Given the description of an element on the screen output the (x, y) to click on. 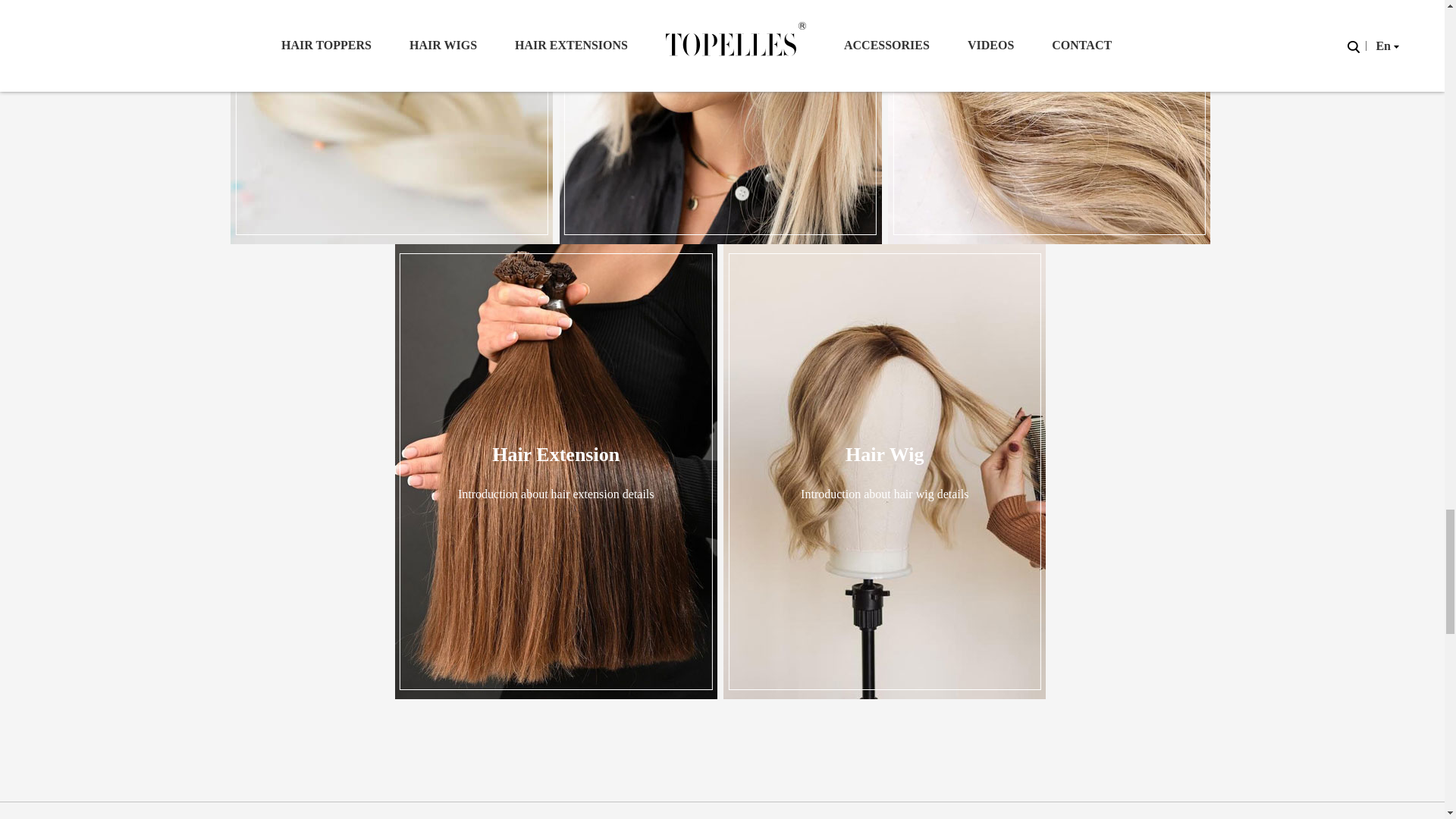
Hair Topper (720, 122)
Advice on Healthy Hair (1048, 122)
About Hair (391, 122)
